Given the description of an element on the screen output the (x, y) to click on. 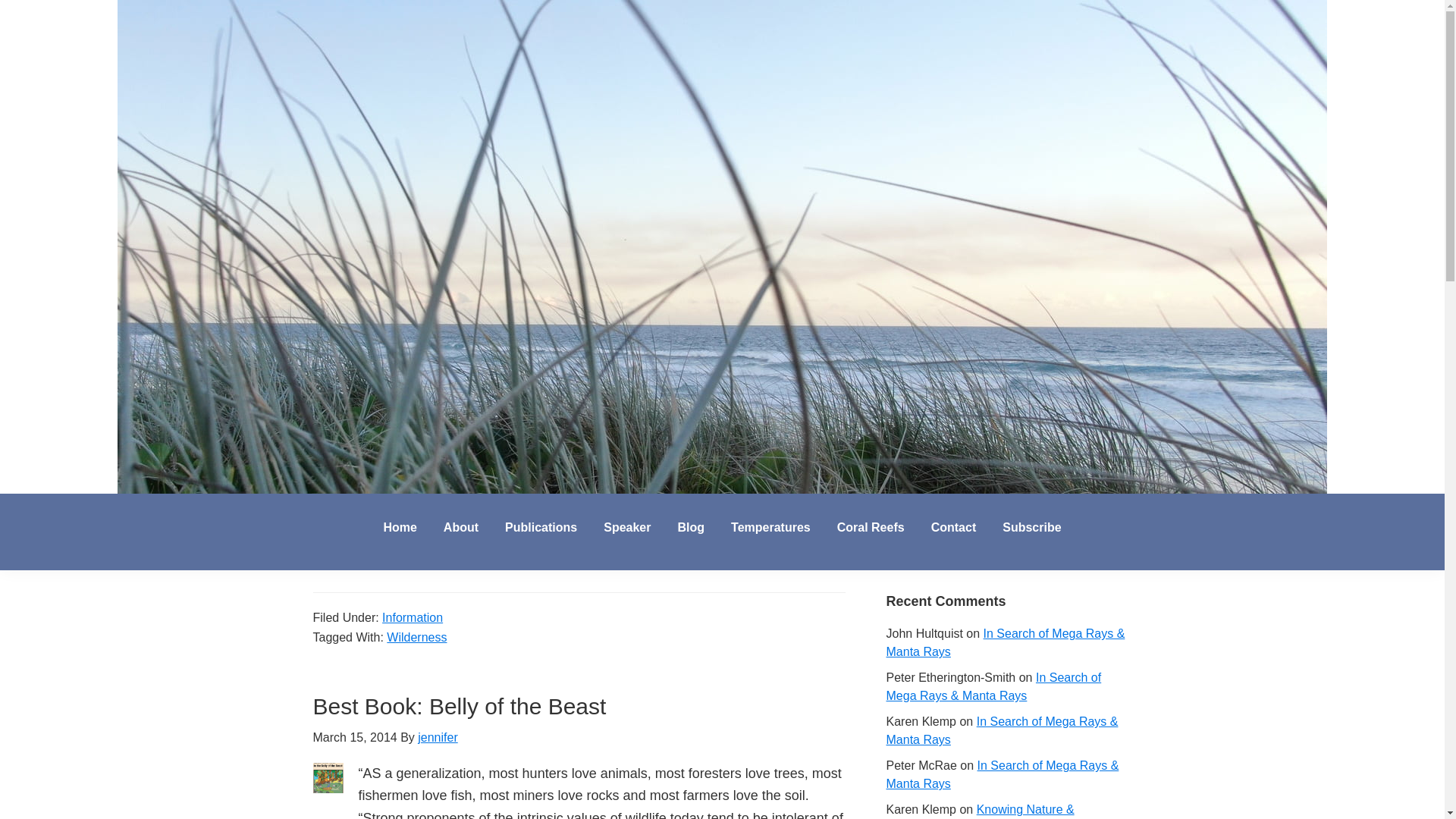
Wilderness (482, 327)
Subscribe (1031, 527)
jennifer (429, 145)
About (460, 527)
Speaker (627, 527)
Coral Reefs (870, 527)
Temperatures (770, 527)
Wilderness (416, 636)
Contact (954, 527)
Blog (690, 527)
Information (411, 308)
Publications (540, 527)
